Given the description of an element on the screen output the (x, y) to click on. 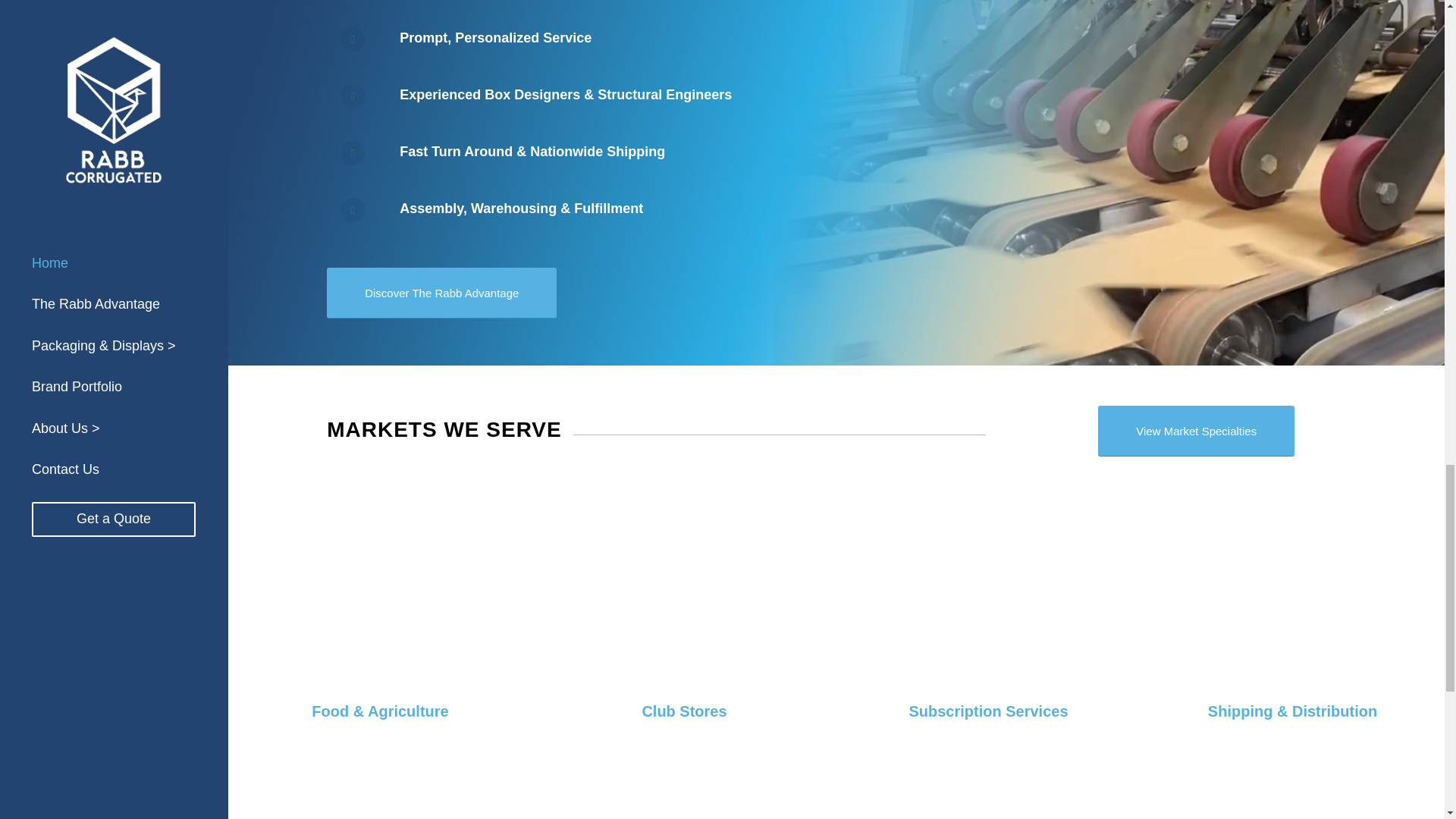
View Market Specialties (1195, 430)
Discover The Rabb Advantage (441, 292)
